Given the description of an element on the screen output the (x, y) to click on. 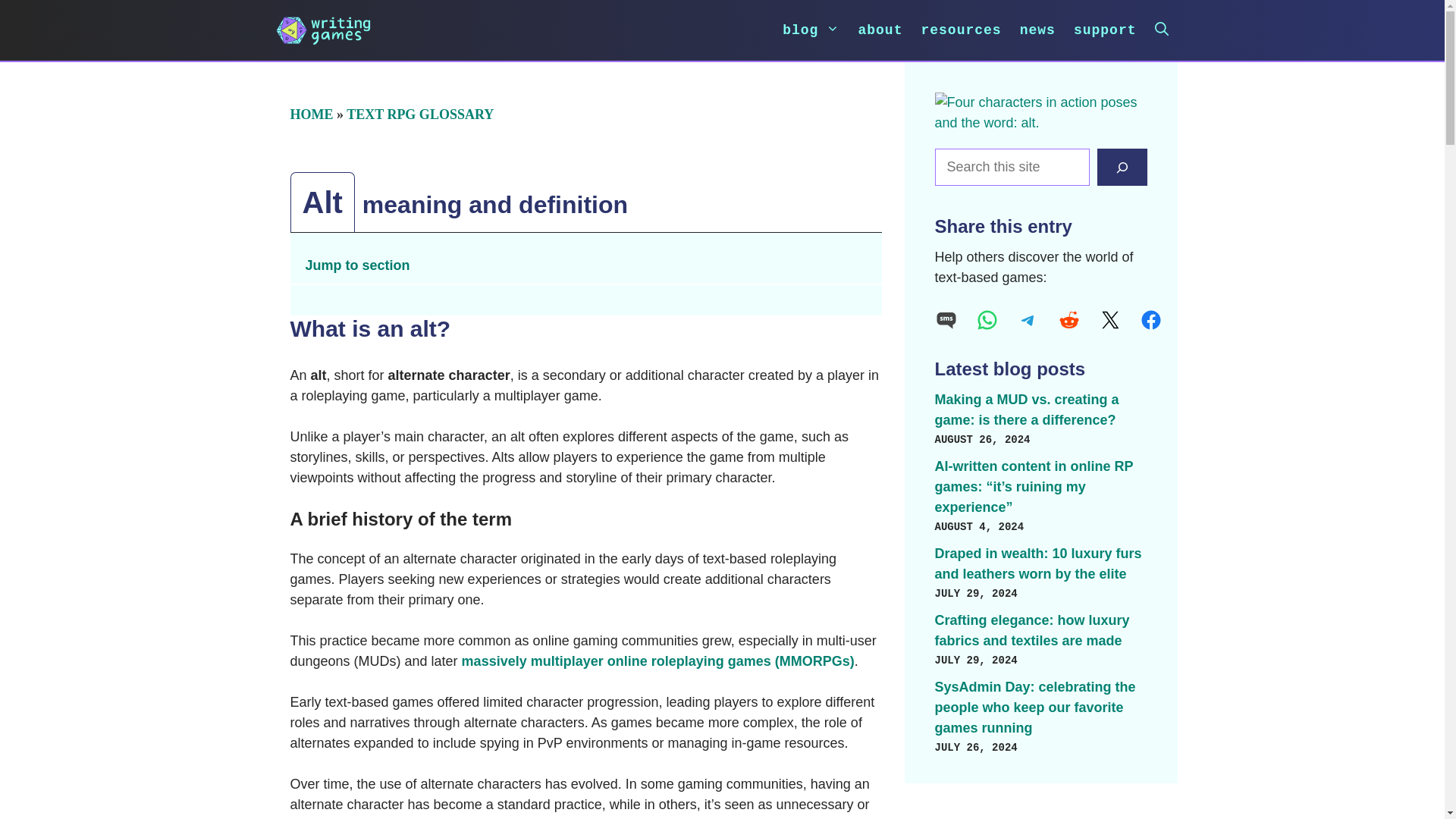
blog (810, 30)
Alt (1040, 112)
HOME (311, 114)
Writing Games (323, 30)
resources (960, 30)
support (1104, 30)
about (879, 30)
TEXT RPG GLOSSARY (419, 114)
